Given the description of an element on the screen output the (x, y) to click on. 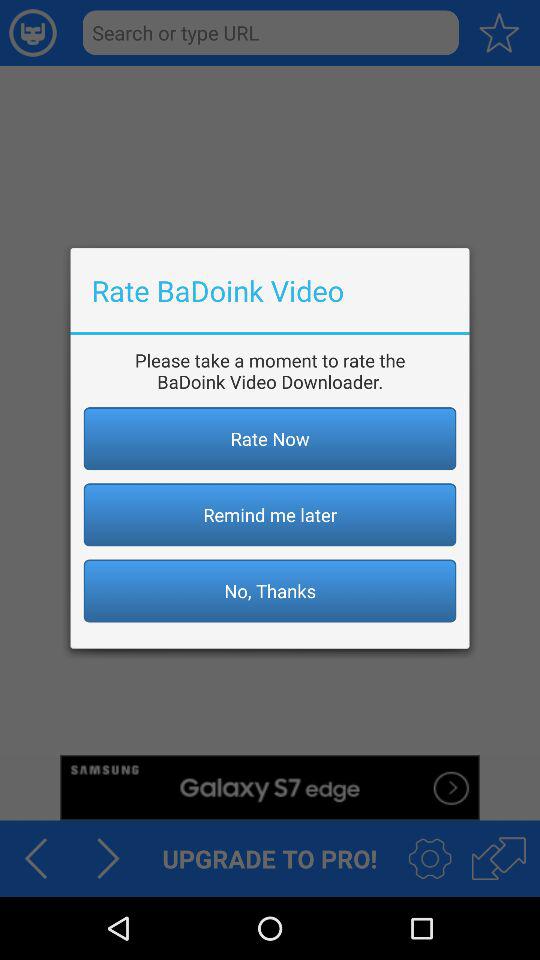
launch the item above no, thanks (269, 514)
